Given the description of an element on the screen output the (x, y) to click on. 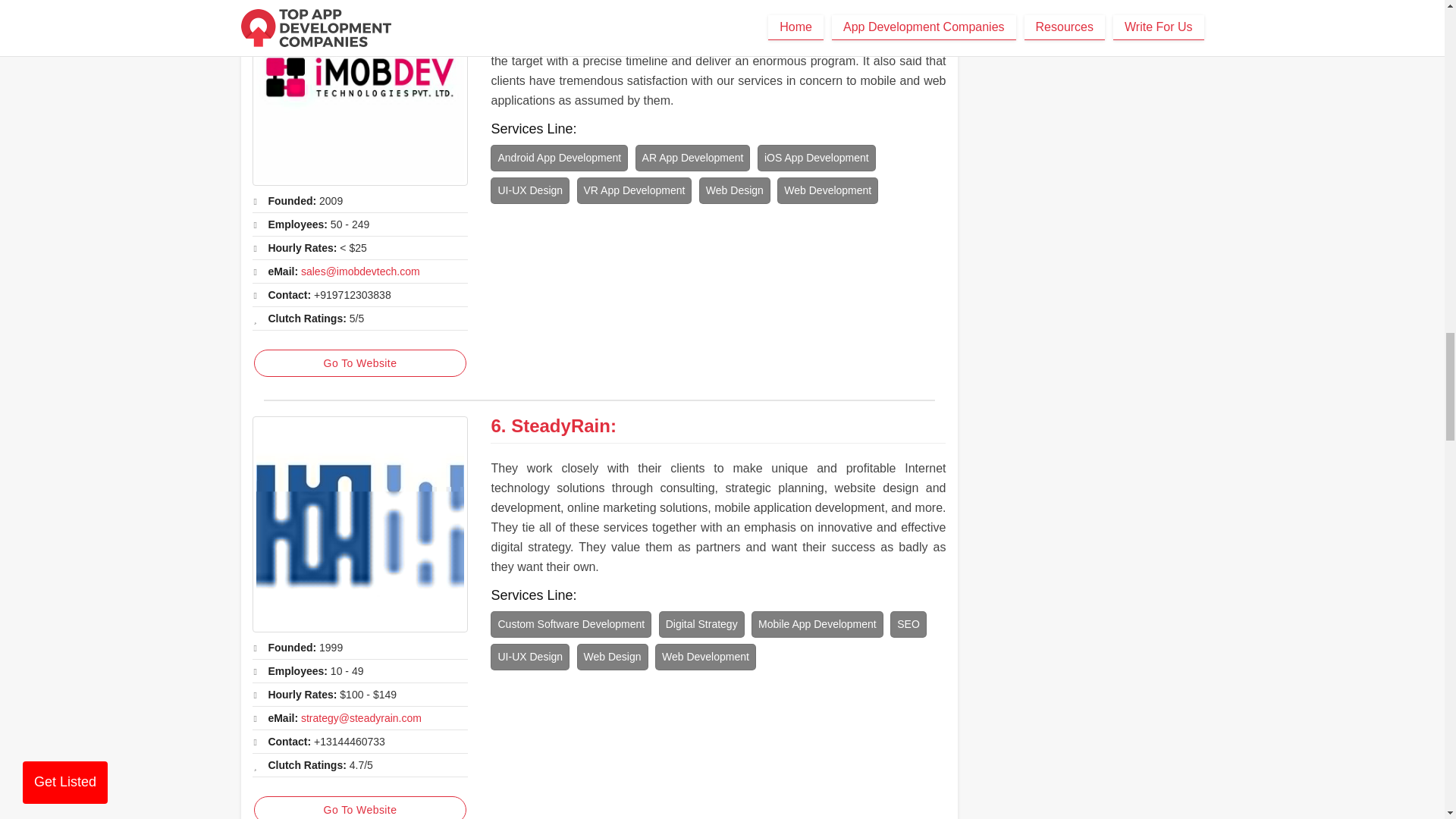
SteadyRain (359, 524)
Go To Website (359, 807)
iMOBDEV Technologies Pvt Ltd (359, 92)
SteadyRain (560, 425)
Go To Website (359, 362)
